Given the description of an element on the screen output the (x, y) to click on. 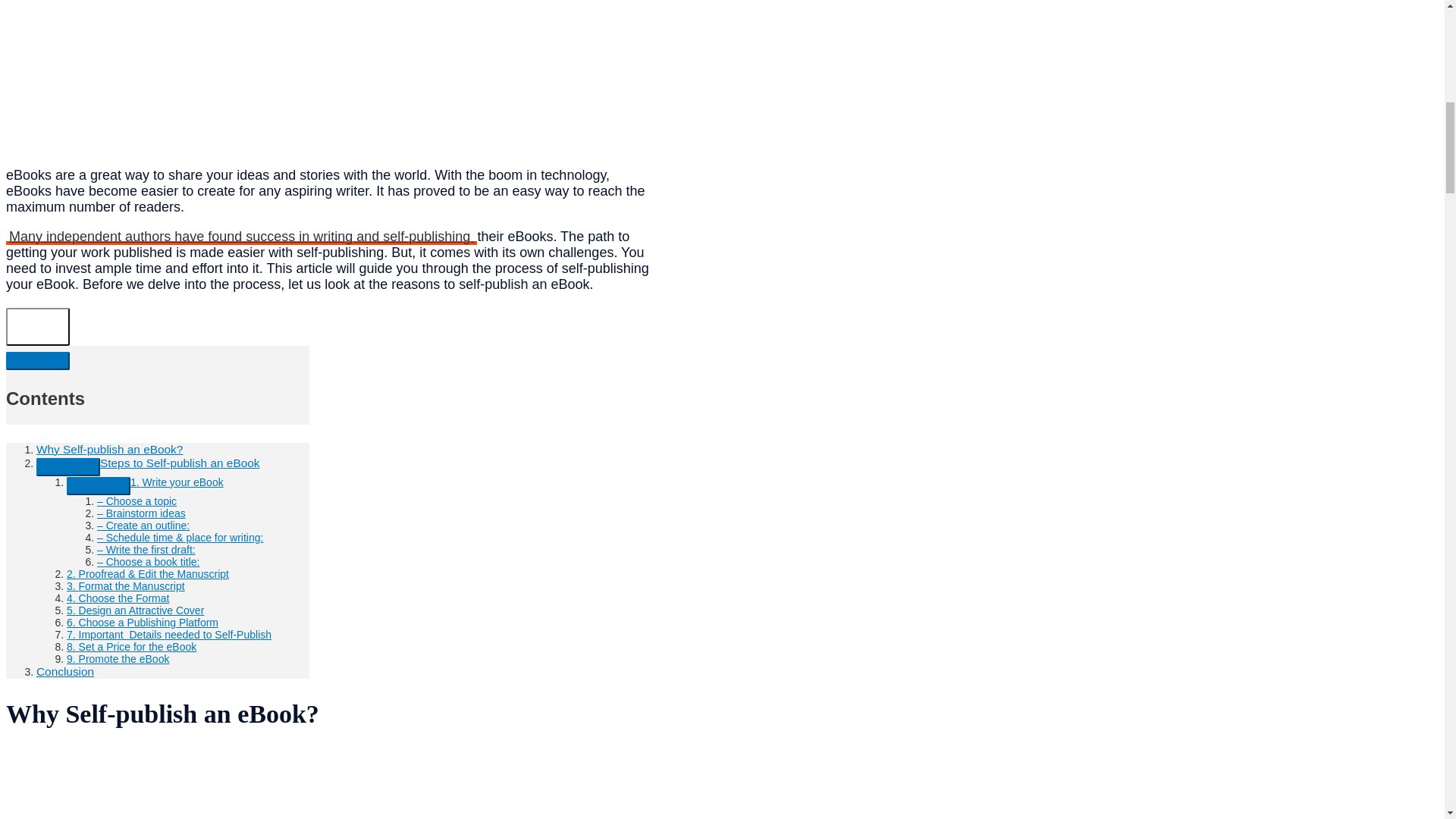
3. Format the Manuscript (125, 585)
Why Self-publish an eBook? (109, 449)
click To Maximize The Table Of Contents (37, 326)
1. Write your eBook (177, 481)
5. Design an Attractive Cover (134, 610)
4. Choose the Format (117, 598)
Steps to Self-publish an eBook (179, 463)
6. Choose a Publishing Platform (142, 622)
